Given the description of an element on the screen output the (x, y) to click on. 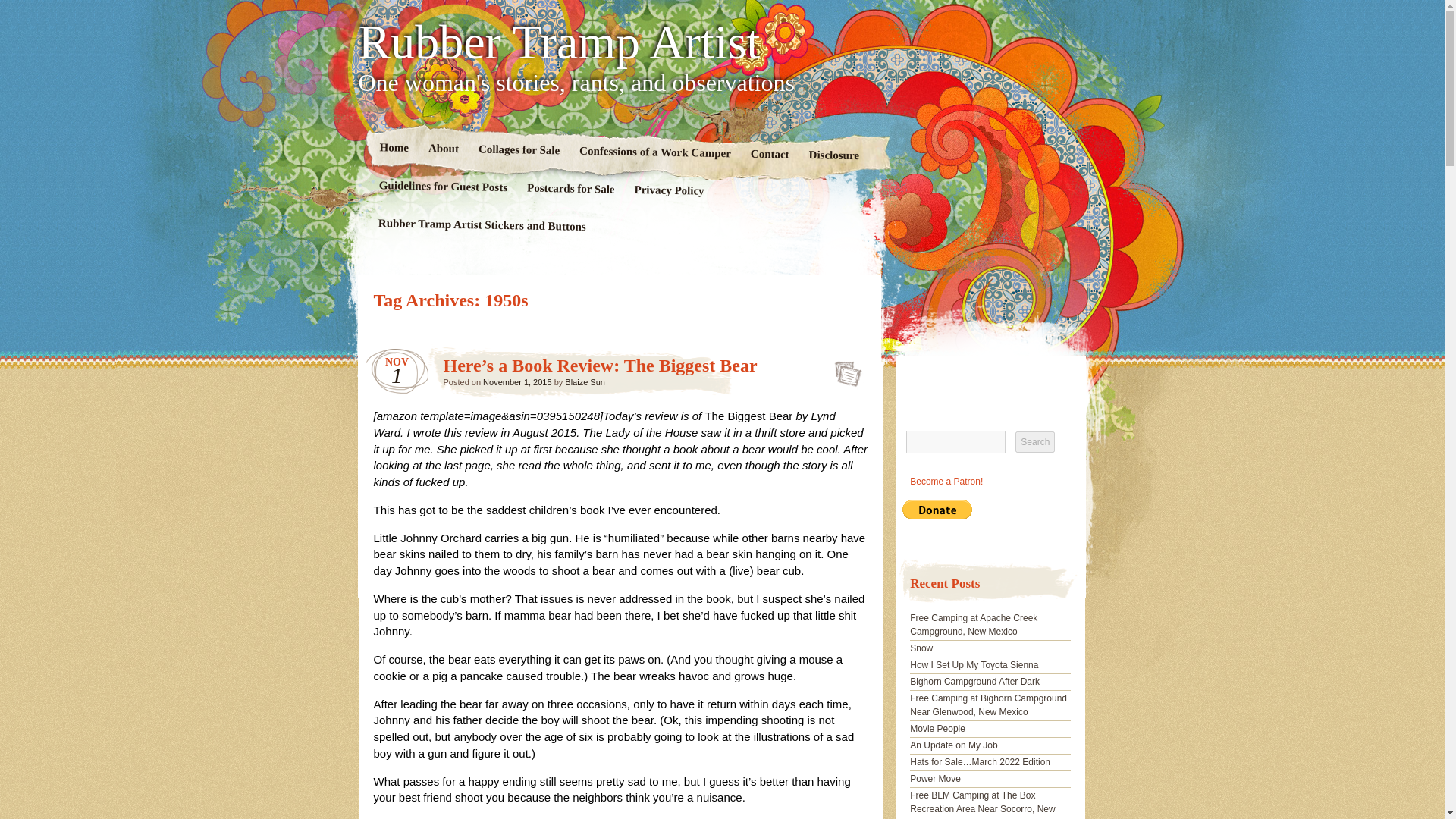
Rubber Tramp Artist (722, 42)
Guidelines for Guest Posts (442, 187)
Become a Patron! (946, 480)
Contact (768, 155)
How I Set Up My Toyota Sienna (974, 665)
About (442, 149)
Confessions of a Work Camper (654, 152)
All Standard posts (843, 369)
Power Move (935, 778)
View all posts by Blaize Sun (584, 381)
Movie People (937, 728)
Rubber Tramp Artist Stickers and Buttons (481, 225)
7:12 am (517, 381)
An Update on My Job (953, 745)
Disclosure (832, 157)
